Given the description of an element on the screen output the (x, y) to click on. 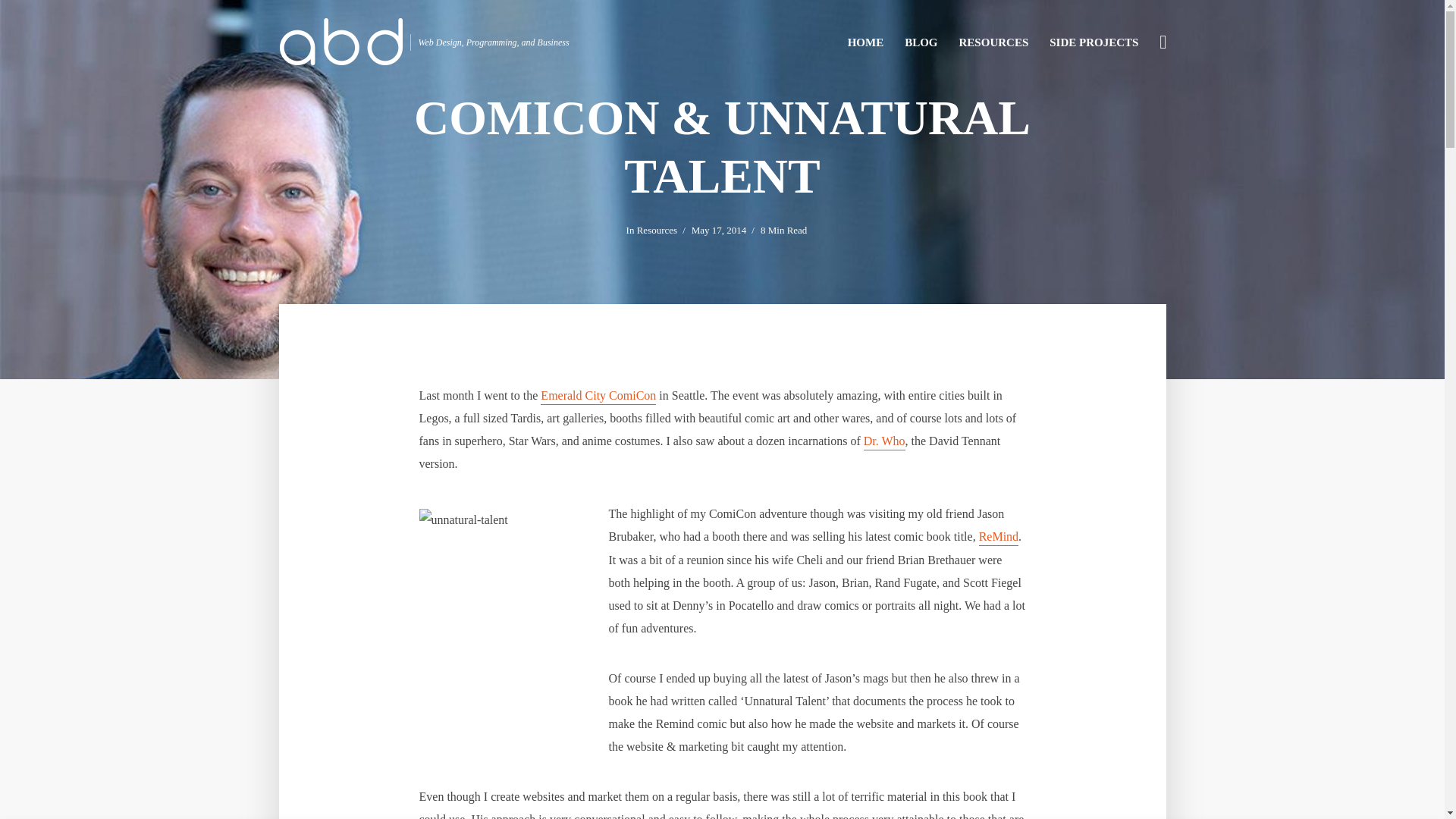
ReMind comic (997, 537)
ReMind (997, 537)
Emerald City ComiCon (598, 396)
Dr. Who (884, 442)
BLOG (920, 41)
Emerald City ComiCon (598, 396)
Resources (657, 231)
HOME (866, 41)
SIDE PROJECTS (1093, 41)
Dr. Who (884, 442)
RESOURCES (994, 41)
